Given the description of an element on the screen output the (x, y) to click on. 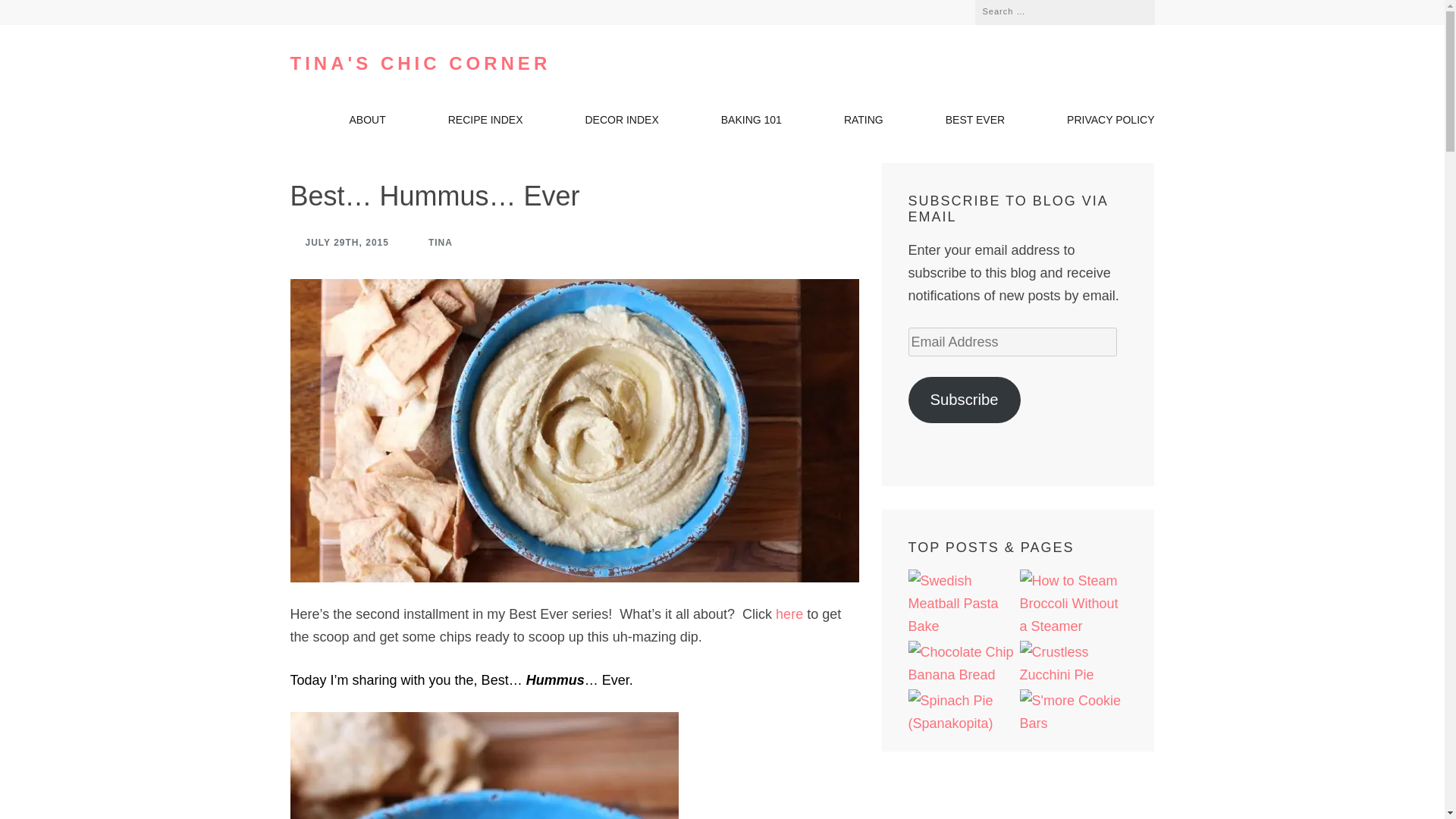
S'more Cookie Bars (1072, 711)
Search (1131, 11)
Search (1131, 11)
Swedish Meatball Pasta Bake (962, 603)
Chocolate Chip Banana Bread (962, 663)
How to Steam Broccoli Without a Steamer (1072, 603)
Search (1131, 11)
TINA'S CHIC CORNER (419, 63)
Crustless Zucchini Pie (1072, 663)
ABOUT (367, 123)
RECIPE INDEX (485, 123)
